Given the description of an element on the screen output the (x, y) to click on. 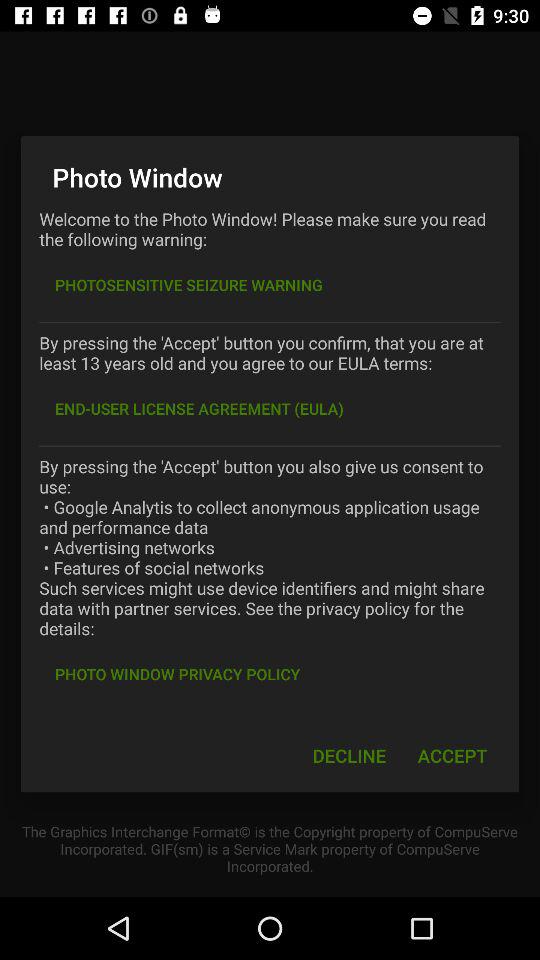
jump to end user license icon (199, 408)
